Given the description of an element on the screen output the (x, y) to click on. 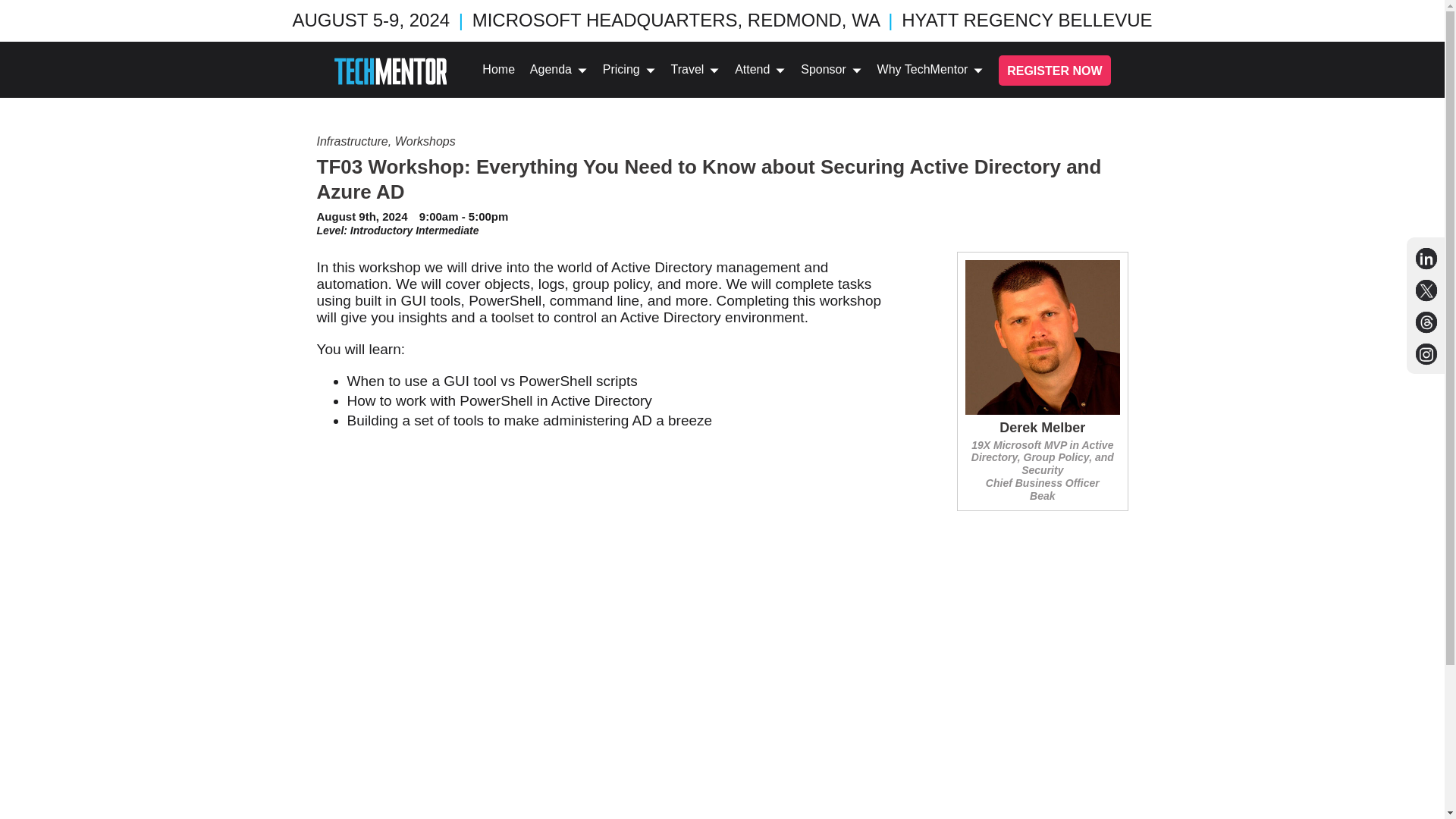
Agenda (558, 70)
REGISTER NOW (1053, 70)
Pricing (629, 70)
Sponsor (830, 70)
Attend (760, 70)
Home (498, 70)
Why TechMentor (930, 70)
Derek Melber (1042, 428)
Travel (694, 70)
